Given the description of an element on the screen output the (x, y) to click on. 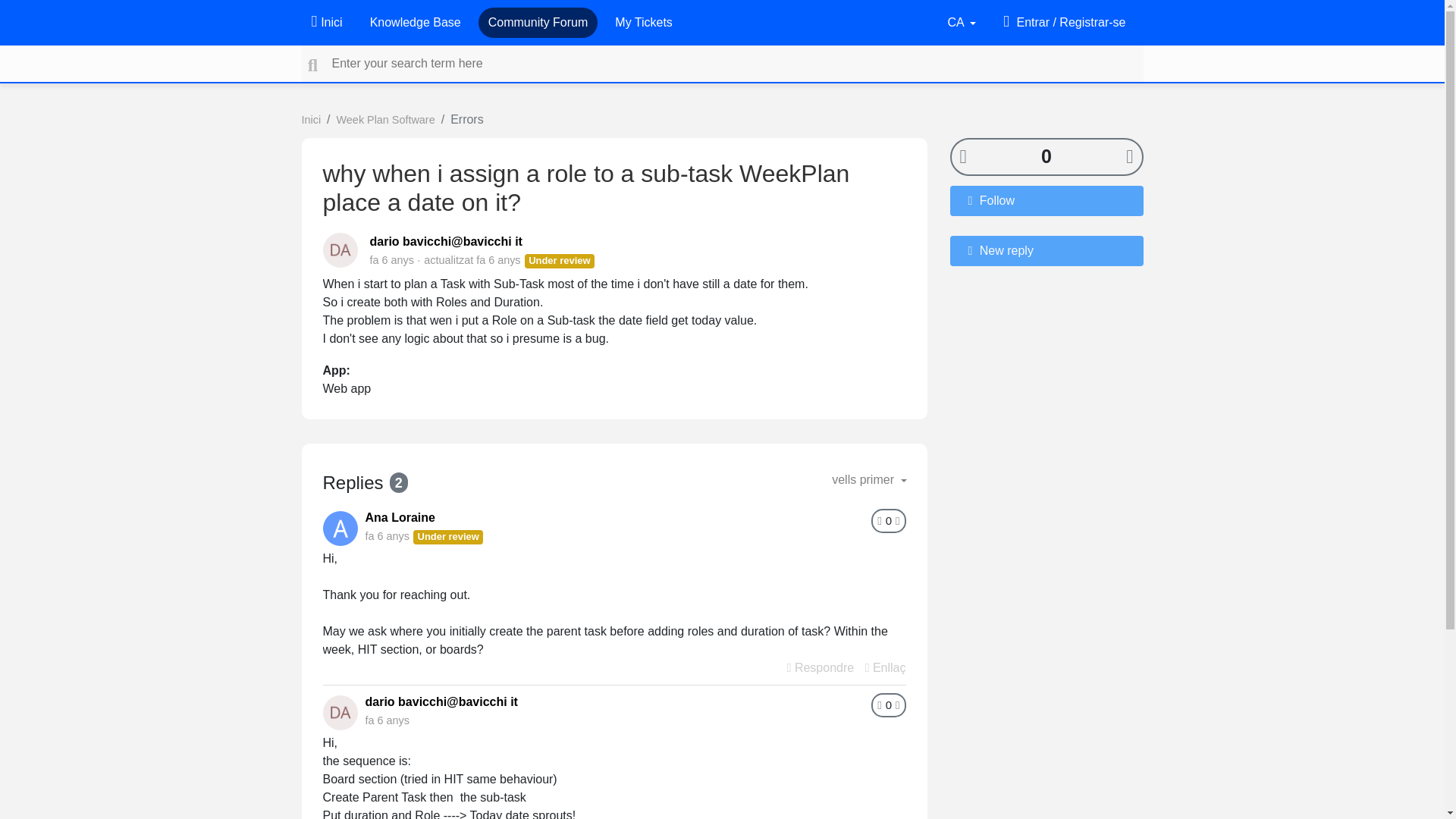
16 de setembre de 2018 16:18 (387, 535)
Week Plan Software (385, 119)
Follow (1045, 200)
17 de setembre de 2018 4:00 (387, 720)
Ana Loraine (400, 517)
Knowledge Base (415, 22)
CA (960, 22)
New reply (1045, 250)
vells primer (869, 480)
Inici (311, 119)
My Tickets (643, 22)
Respondre (820, 667)
17 de setembre de 2018 4:00 (497, 259)
16 de setembre de 2018 15:54 (391, 259)
Community Forum (537, 22)
